Given the description of an element on the screen output the (x, y) to click on. 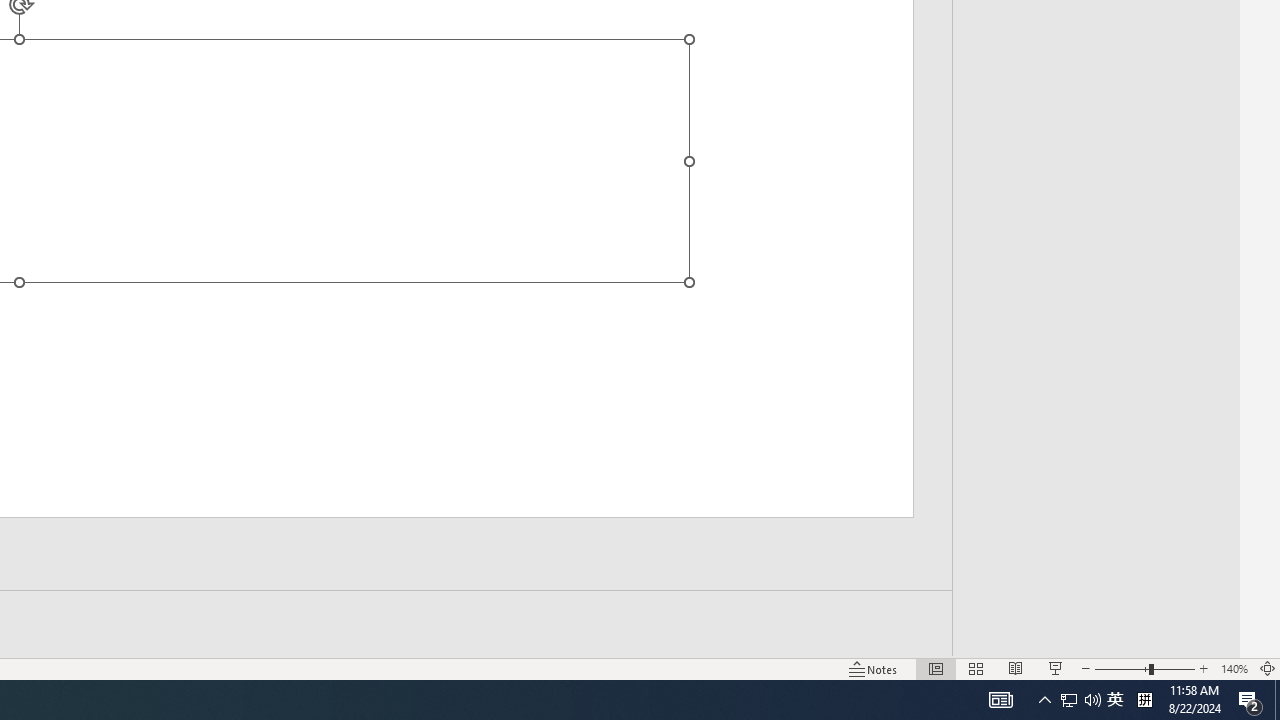
Zoom 140% (1234, 668)
